Given the description of an element on the screen output the (x, y) to click on. 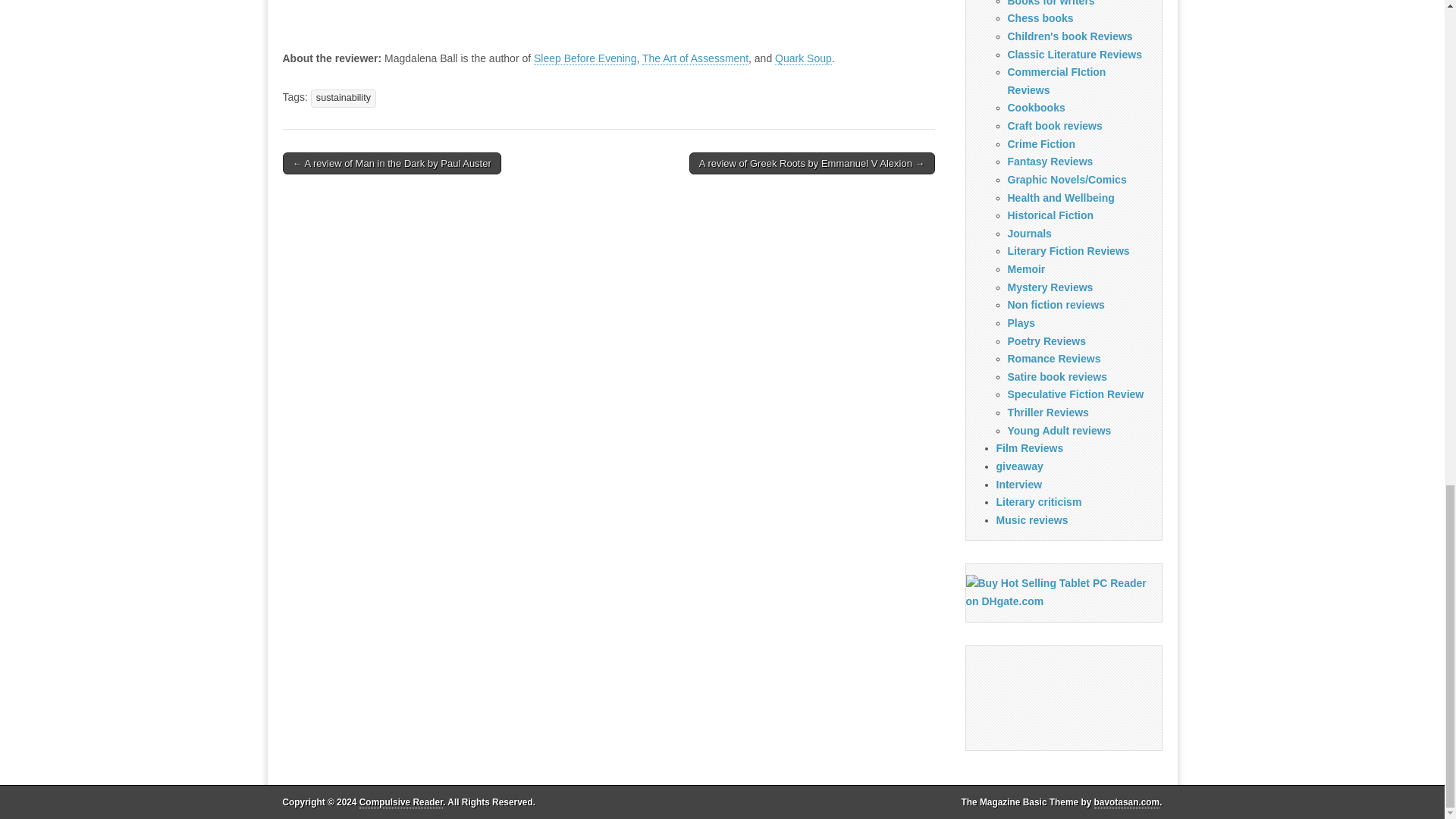
Cookbooks (1035, 107)
Books for writers (1050, 3)
Fantasy Reviews (1050, 161)
Commercial FIction Reviews (1056, 81)
Crime Fiction (1040, 143)
Quark Soup (802, 58)
sustainability (343, 98)
Chess books (1040, 18)
Children's book Reviews (1069, 36)
